Given the description of an element on the screen output the (x, y) to click on. 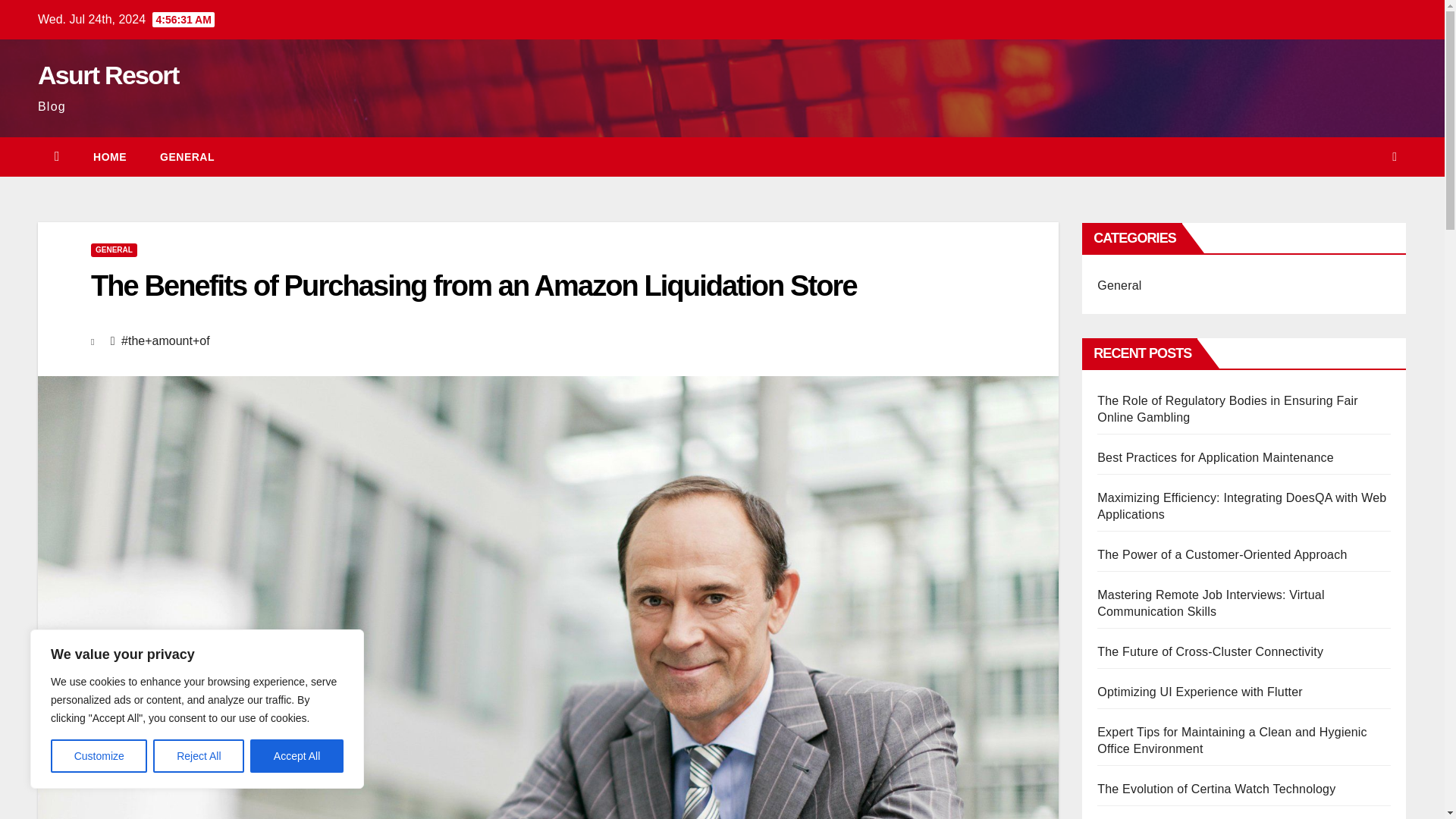
Accept All (296, 756)
General (186, 156)
GENERAL (113, 250)
Customize (98, 756)
Reject All (198, 756)
The Benefits of Purchasing from an Amazon Liquidation Store (473, 286)
Asurt Resort (108, 74)
HOME (109, 156)
Home (109, 156)
GENERAL (186, 156)
